Given the description of an element on the screen output the (x, y) to click on. 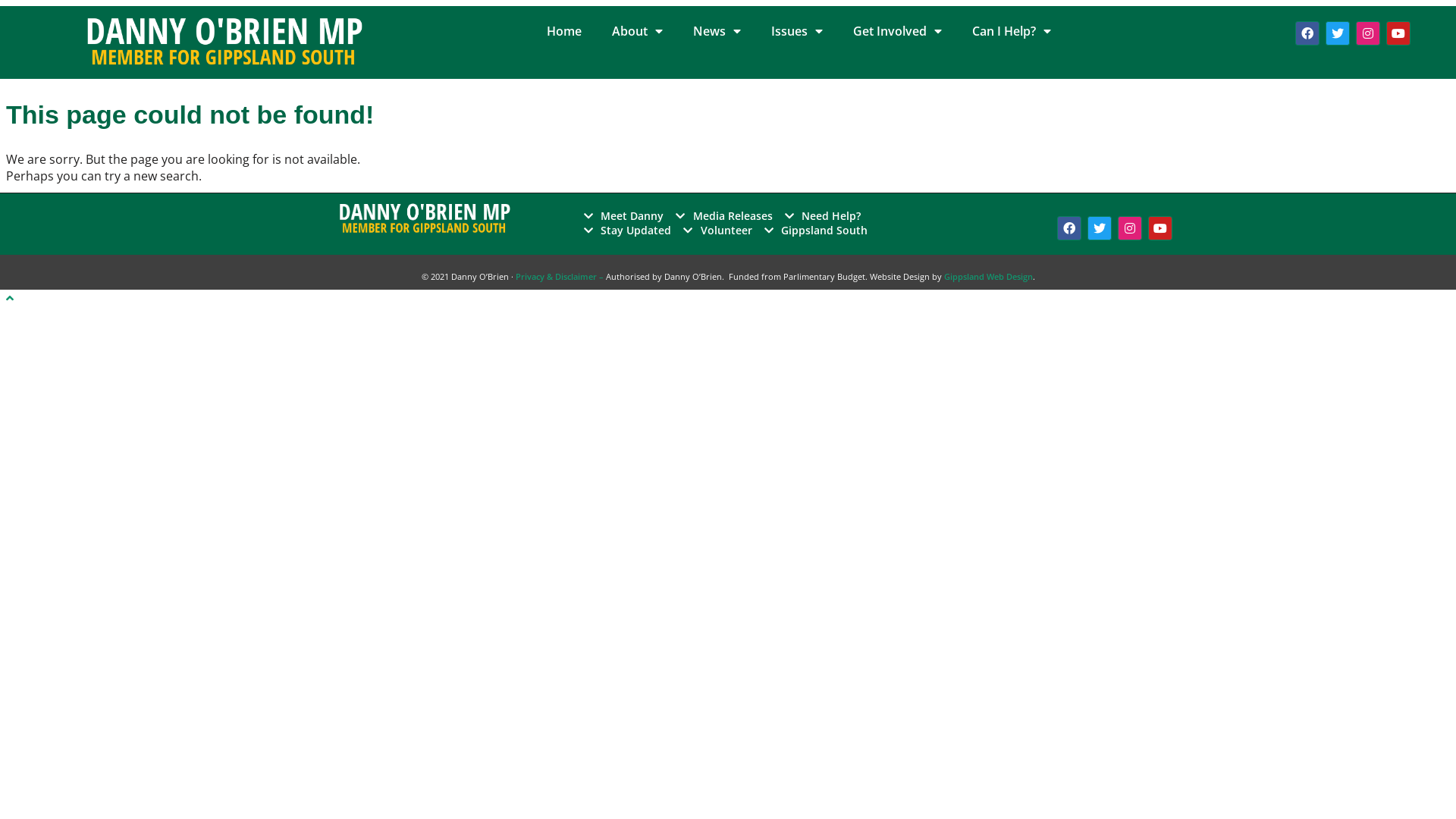
Issues Element type: text (796, 30)
Gippsland South Element type: text (816, 229)
About Element type: text (636, 30)
Back To Homepage Element type: text (61, 221)
Gippsland Web Design Element type: text (987, 276)
Stay Updated Element type: text (627, 229)
Can I Help? Element type: text (1011, 30)
News Element type: text (716, 30)
Get Involved Element type: text (897, 30)
Home Element type: text (563, 30)
Meet Danny Element type: text (623, 215)
Media Releases Element type: text (723, 215)
Volunteer Element type: text (717, 229)
Need Help? Element type: text (822, 215)
